Given the description of an element on the screen output the (x, y) to click on. 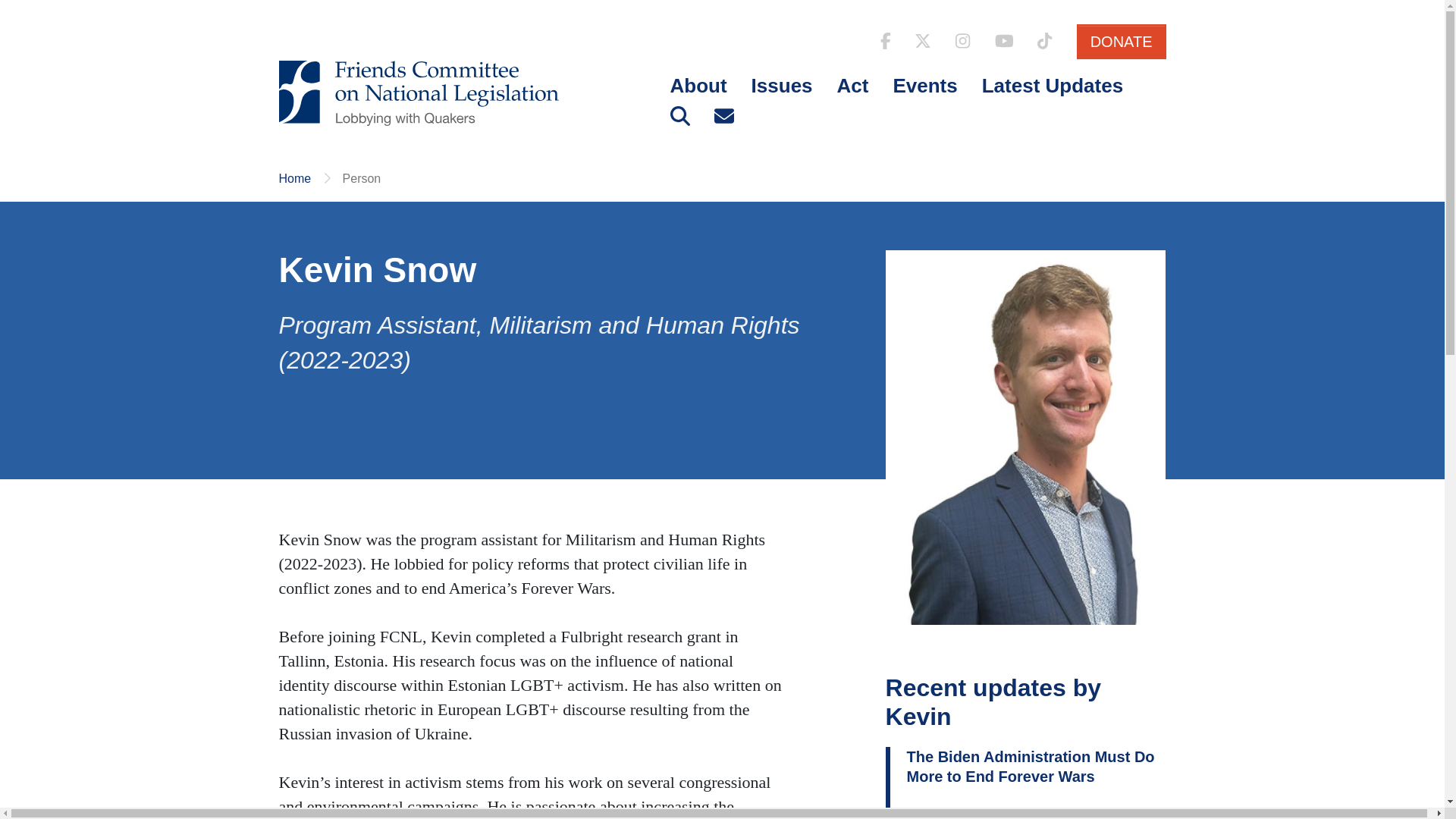
Events (924, 86)
Email signup (723, 116)
Issues (782, 86)
Search (679, 116)
About (698, 86)
Thursday, October 5, 2023 - 14:36 (958, 812)
Latest Updates (1052, 86)
Act (852, 86)
